Given the description of an element on the screen output the (x, y) to click on. 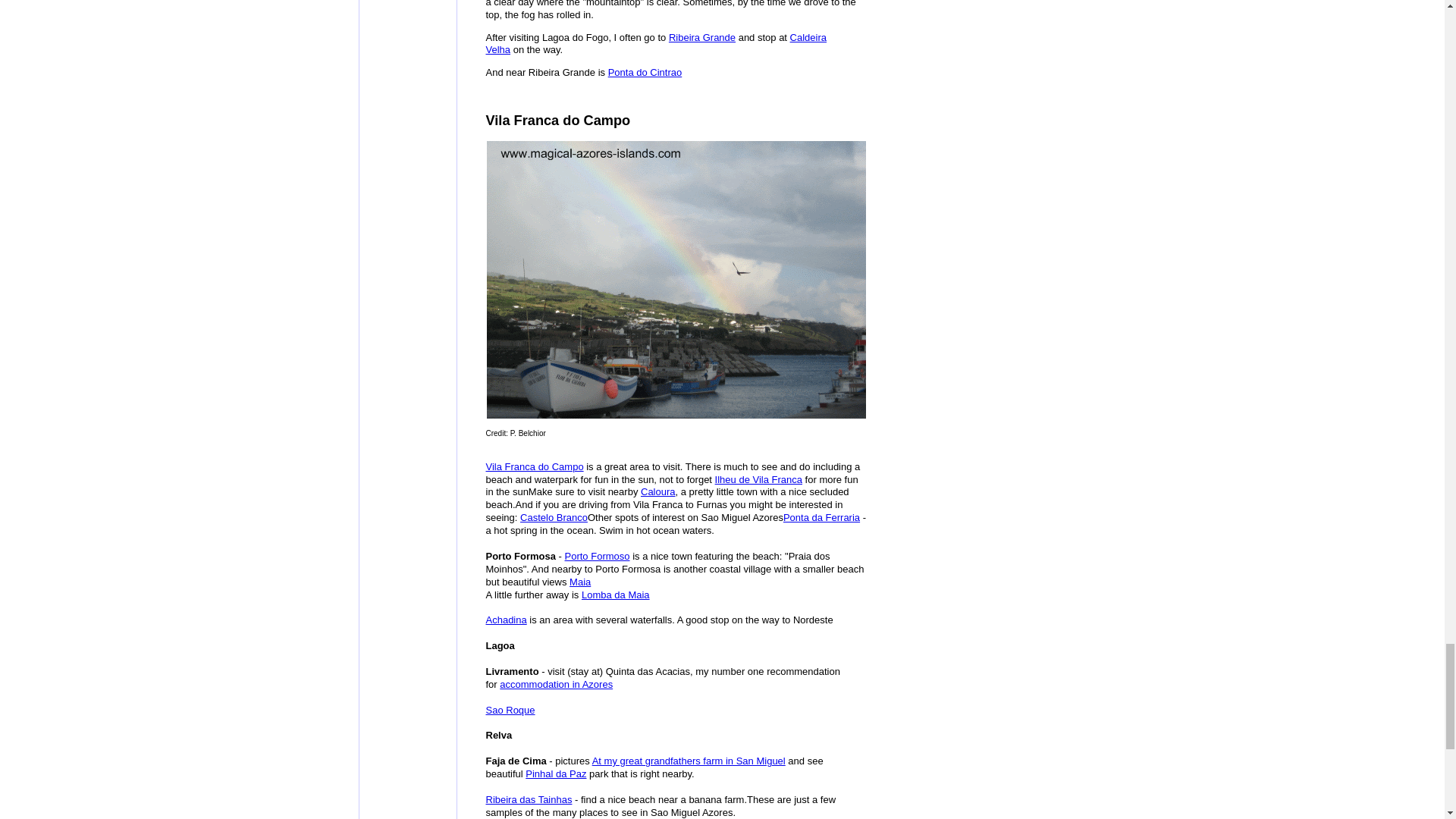
Lomba da Maia (614, 594)
Caloura (657, 491)
Achadina (504, 619)
Ponta do Cintrao (645, 71)
Porto Formoso (597, 555)
Maia (580, 582)
Ribeira Grande (701, 37)
Caldeira Velha (655, 43)
Ponta da Ferraria (821, 517)
Ilheu de Vila Franca (758, 478)
Vila Franca do Campo (533, 466)
Castelo Branco (553, 517)
